Given the description of an element on the screen output the (x, y) to click on. 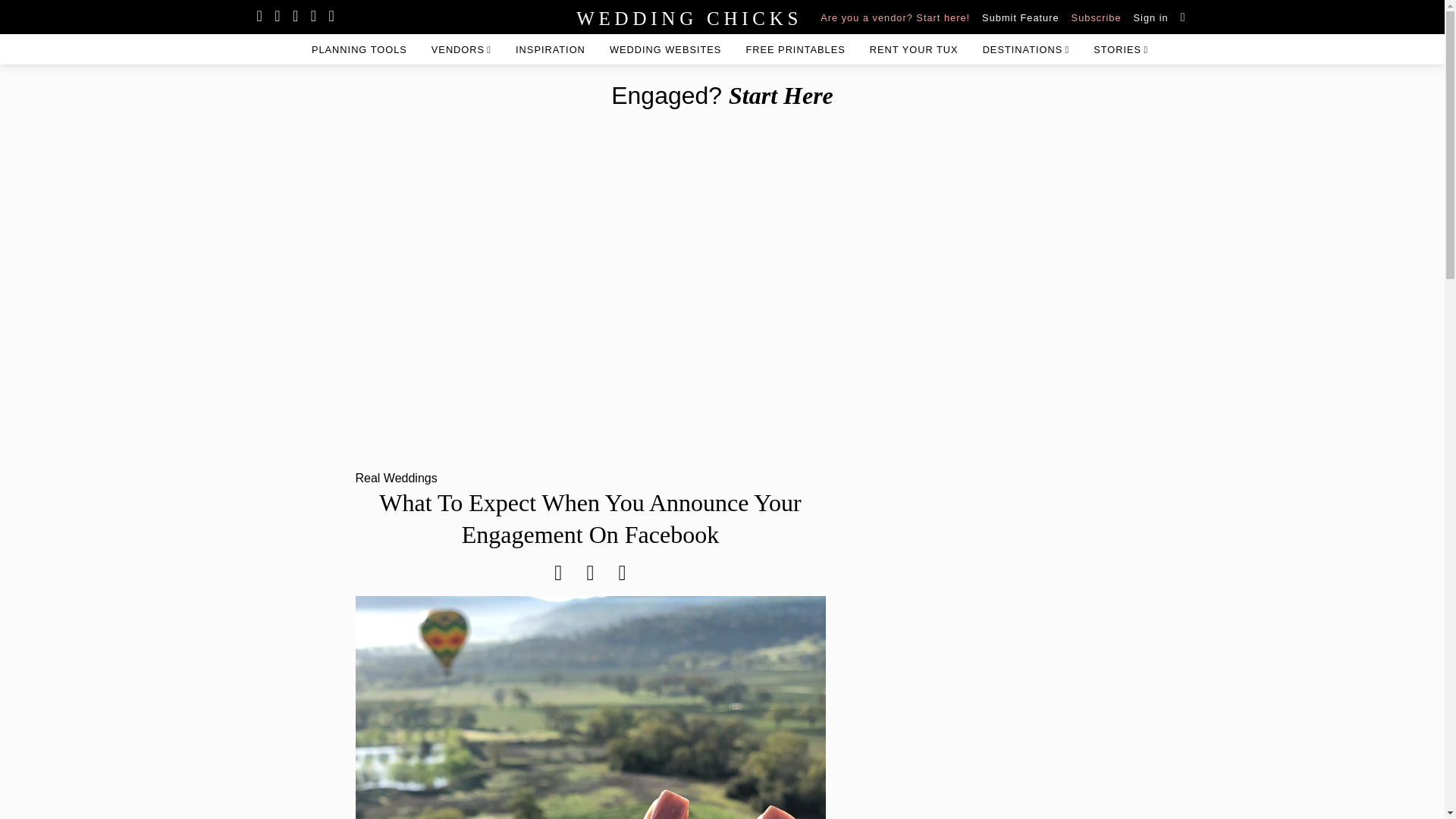
WeddingChicks on Facebook (313, 16)
Share on Facebook (557, 572)
WeddingChicks on Tiktok (276, 16)
Submit Feature (1020, 17)
WeddingChicks on Instagram (260, 16)
WEDDING CHICKS (627, 16)
Share on Pinterest (589, 572)
WeddingChicks on Threads (330, 16)
VENDORS (461, 49)
Share on Twitter (621, 572)
Page Search (1182, 16)
INSPIRATION (550, 49)
Sign in (1150, 17)
RENT YOUR TUX (913, 49)
WEDDING WEBSITES (666, 49)
